Given the description of an element on the screen output the (x, y) to click on. 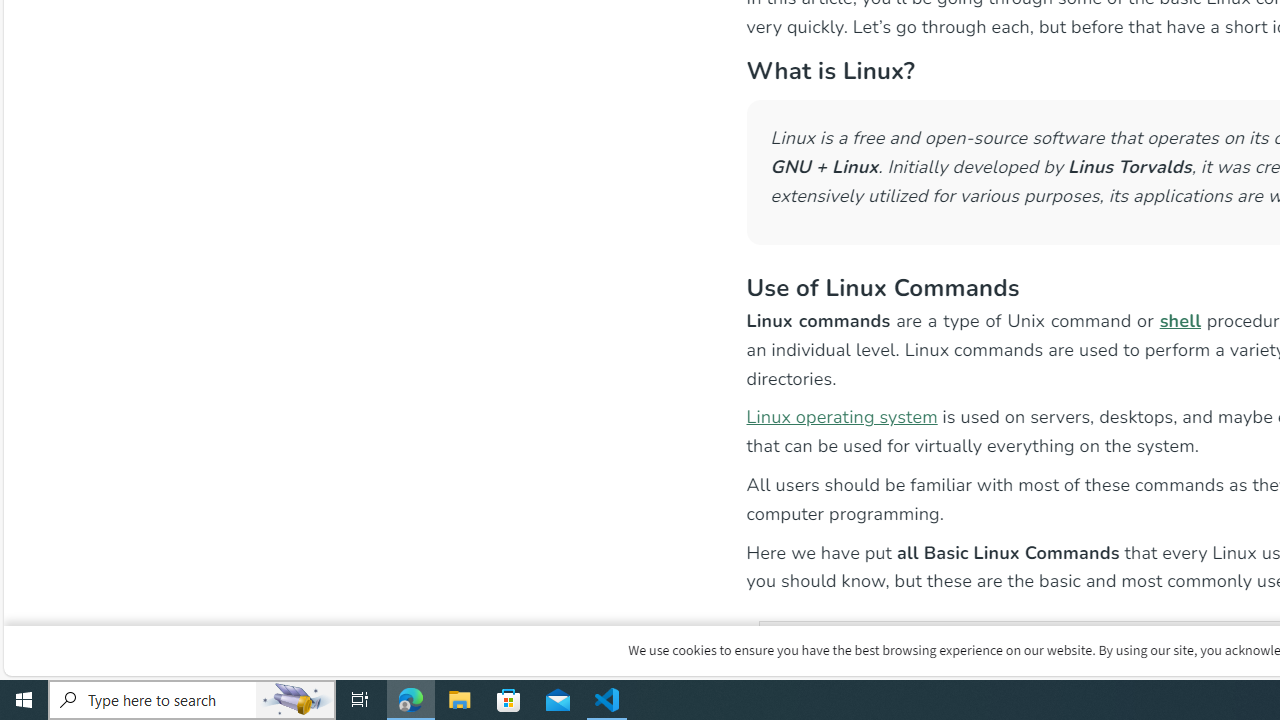
Linux operating system (842, 416)
shell (1179, 320)
Lightbox (1272, 13)
